Given the description of an element on the screen output the (x, y) to click on. 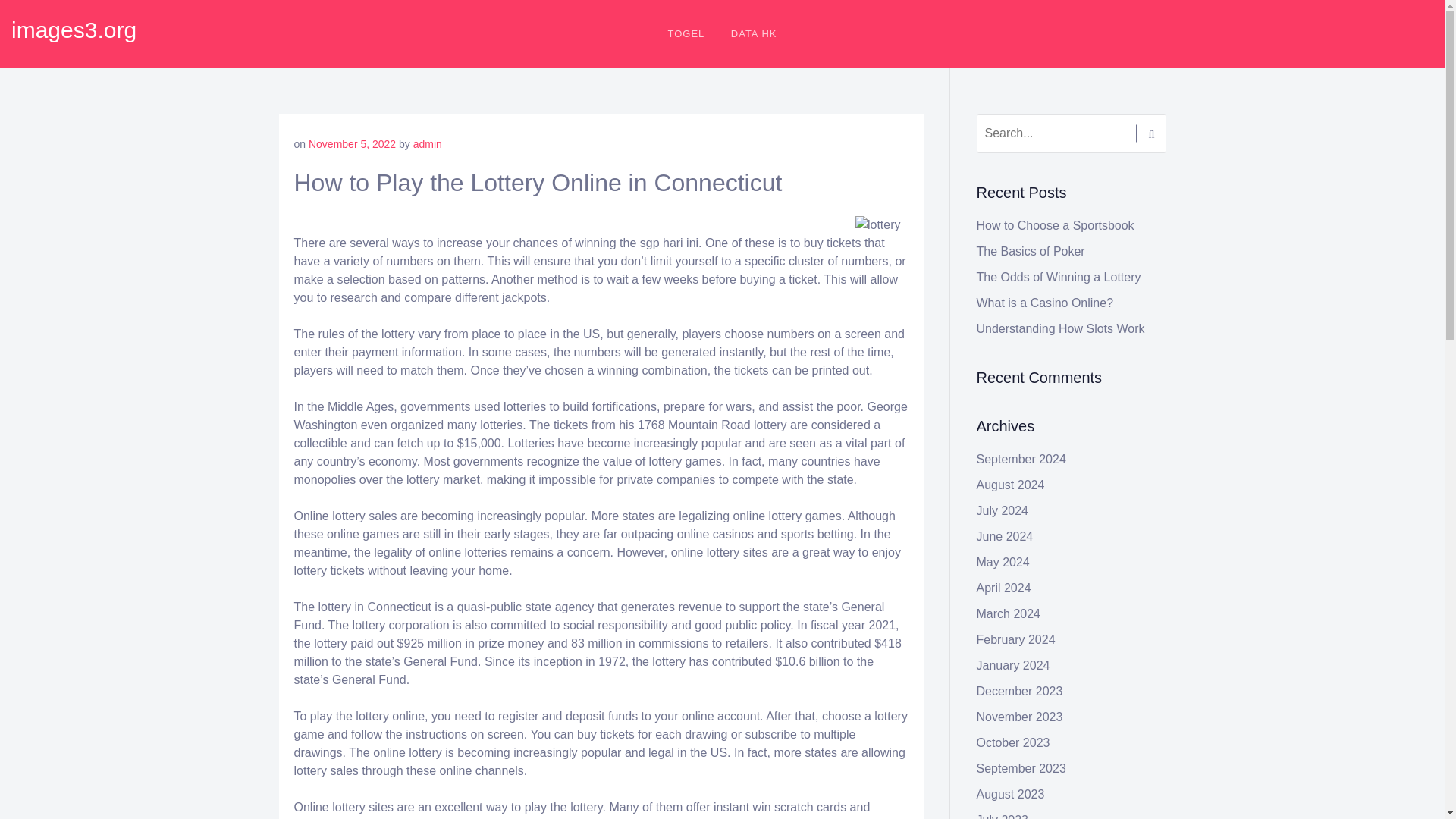
images3.org (73, 29)
March 2024 (1008, 613)
October 2023 (1012, 742)
August 2023 (1010, 793)
How to Choose a Sportsbook (1055, 225)
The Basics of Poker (1030, 250)
August 2024 (1010, 484)
April 2024 (1003, 587)
sgp hari ini (669, 242)
November 2023 (1019, 716)
